Given the description of an element on the screen output the (x, y) to click on. 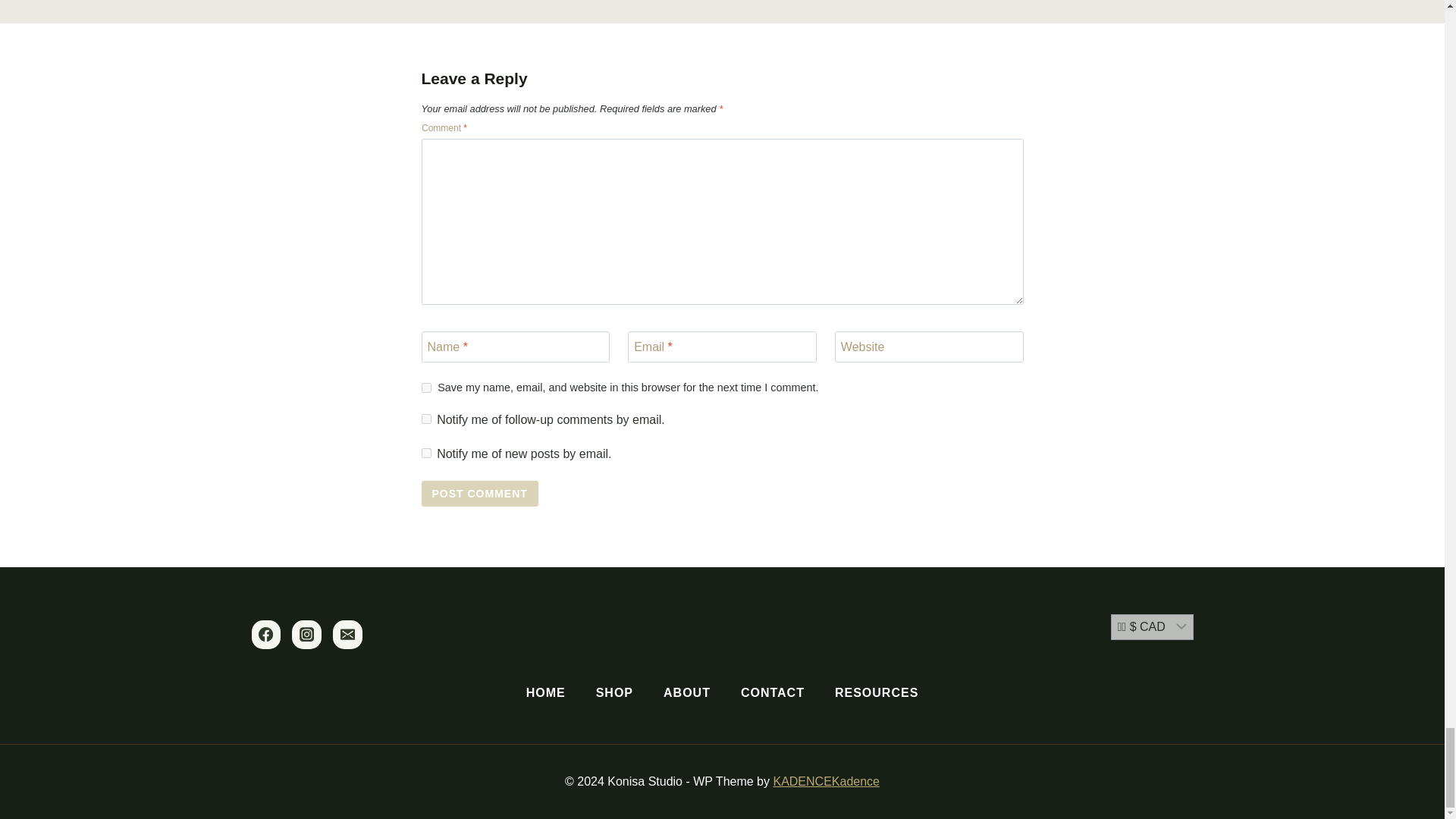
subscribe (426, 452)
yes (426, 388)
Post Comment (480, 493)
subscribe (426, 419)
